Given the description of an element on the screen output the (x, y) to click on. 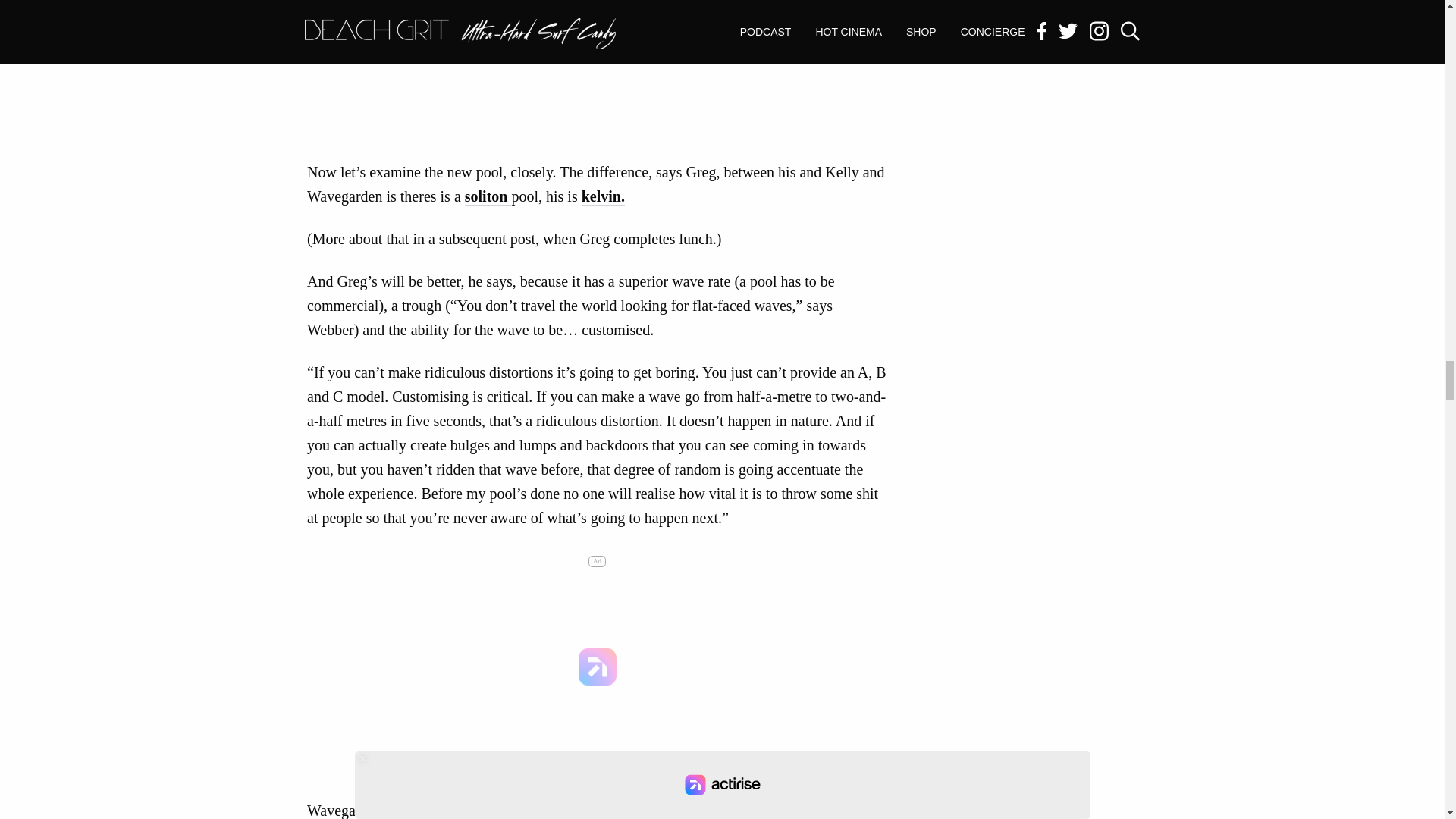
kelvin. (602, 197)
soliton (488, 197)
